Given the description of an element on the screen output the (x, y) to click on. 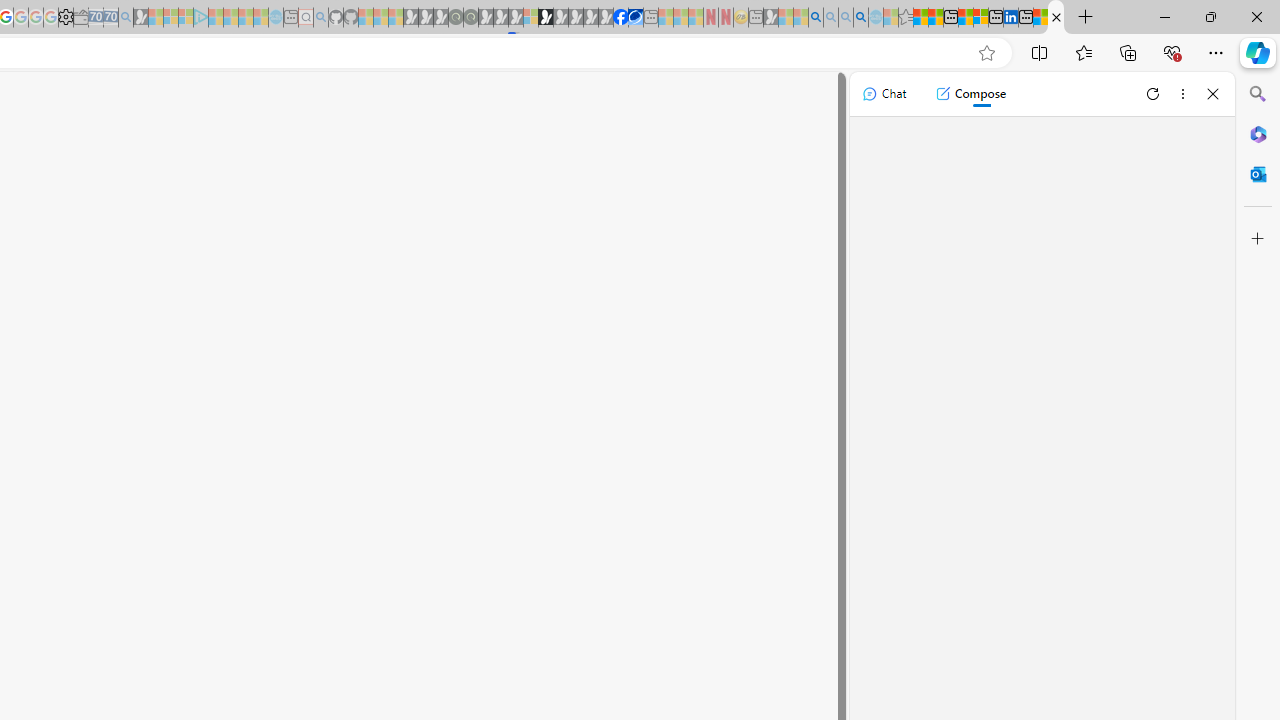
Favorites - Sleeping (905, 17)
Bing AI - Search (816, 17)
